Given the description of an element on the screen output the (x, y) to click on. 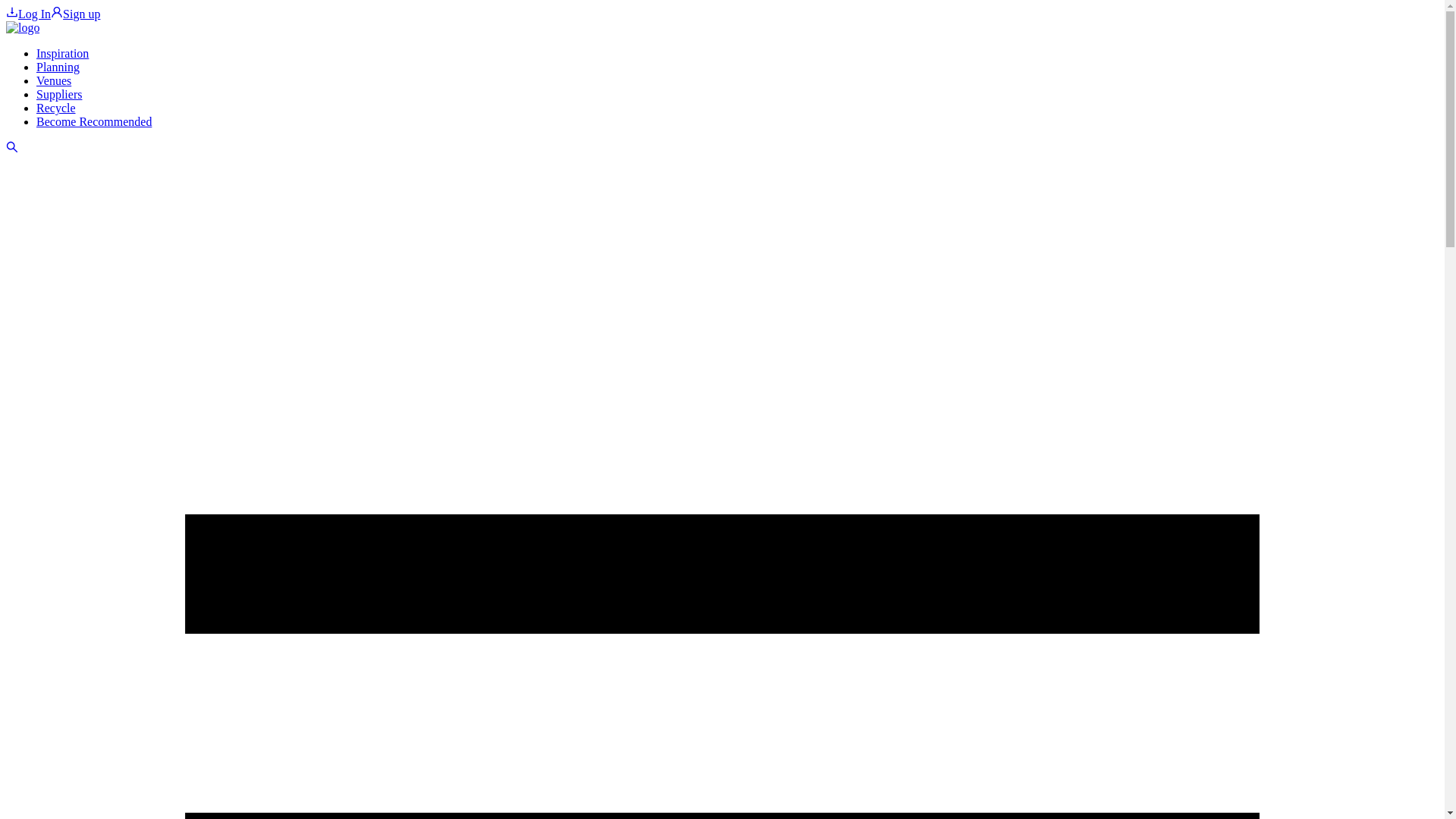
Suppliers (58, 93)
Recycle (55, 107)
Venues (53, 80)
Inspiration (62, 52)
Planning (58, 66)
Log In (27, 13)
Become Recommended (93, 121)
Sign up (75, 13)
